Given the description of an element on the screen output the (x, y) to click on. 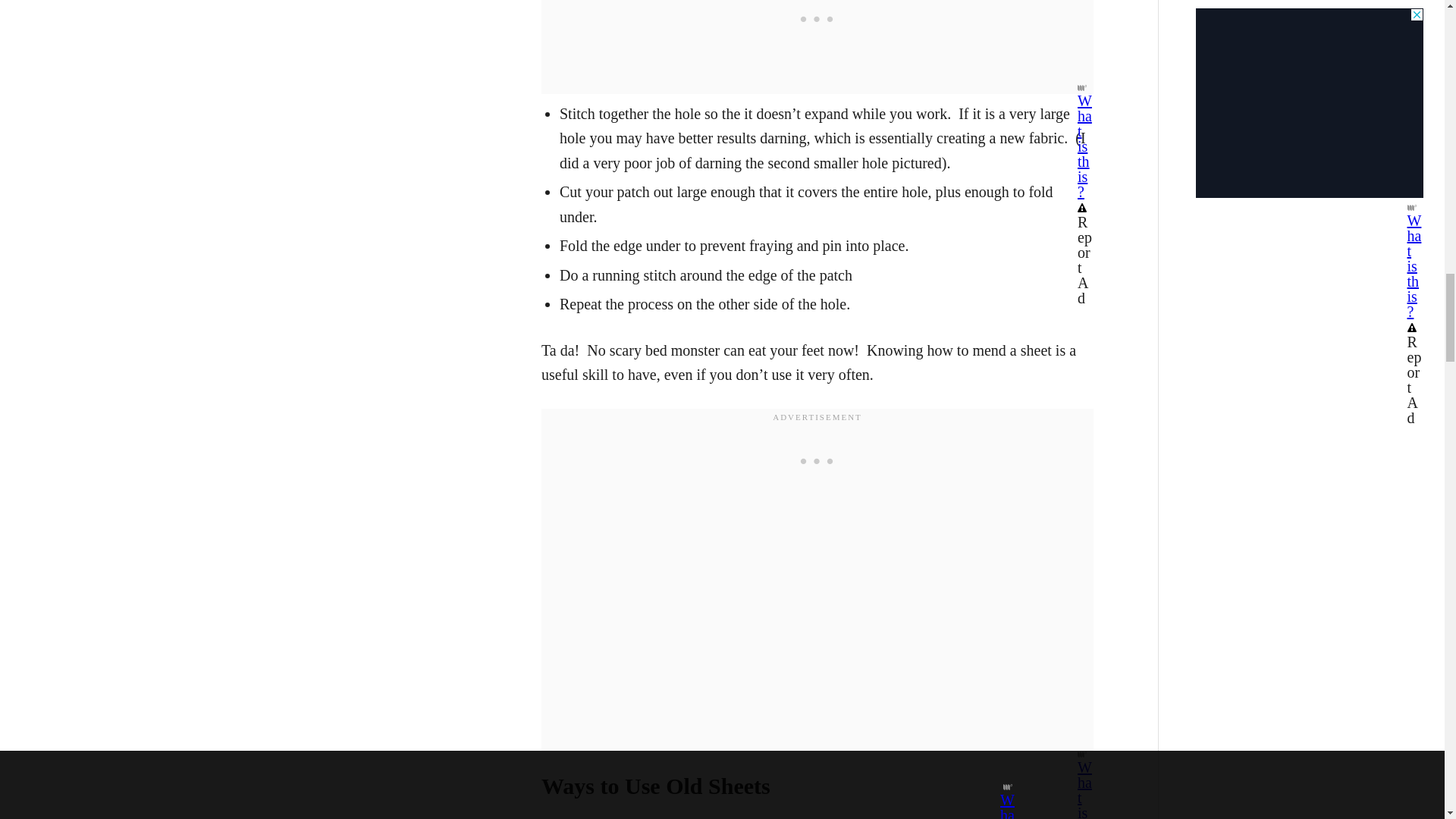
3rd party ad content (817, 460)
